Given the description of an element on the screen output the (x, y) to click on. 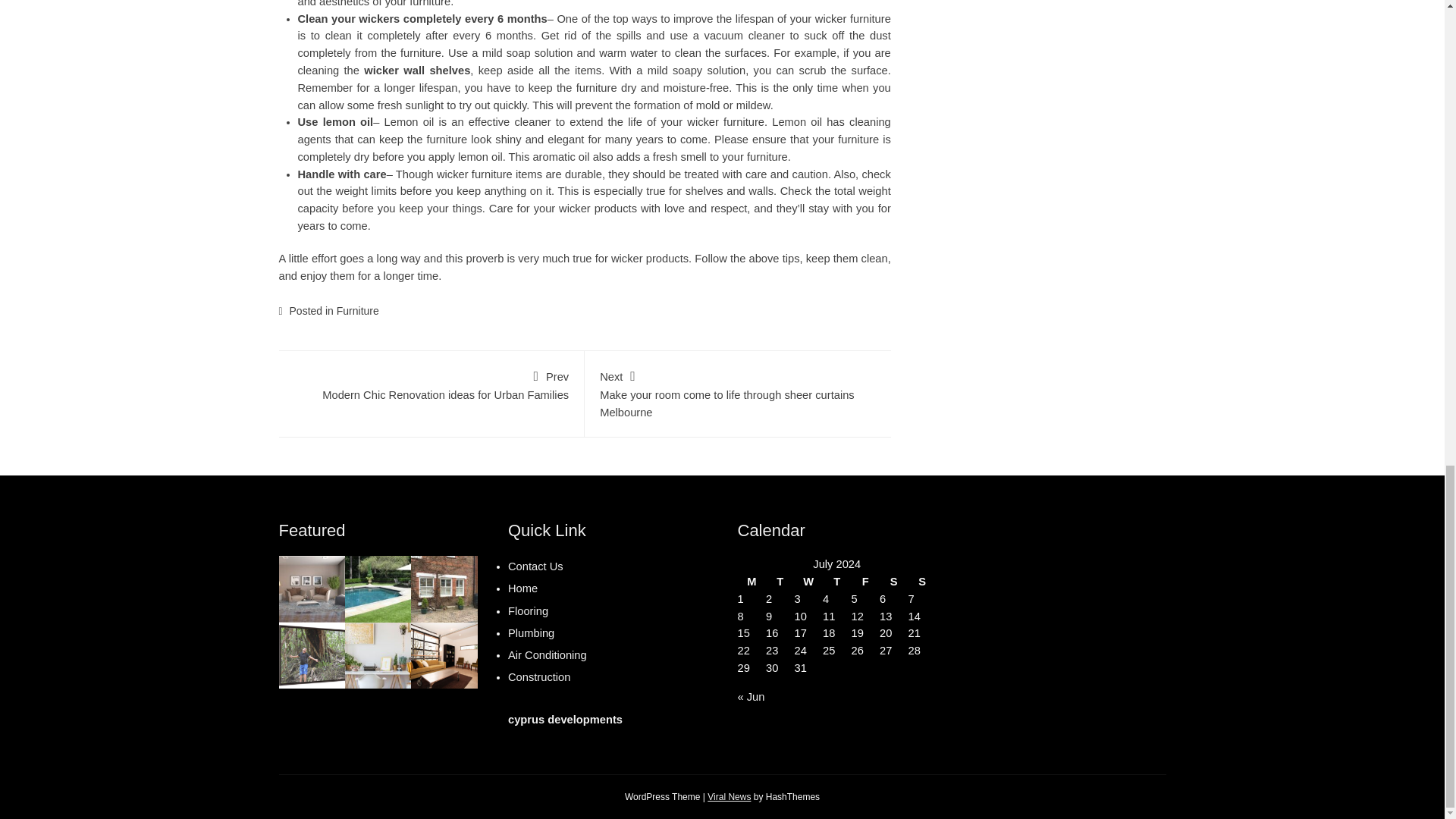
Wednesday (809, 581)
Download Viral News (431, 383)
Sunday (729, 796)
Saturday (922, 581)
Tuesday (893, 581)
Furniture (779, 581)
Friday (357, 310)
Monday (864, 581)
Thursday (750, 581)
wicker wall shelves (836, 581)
